Given the description of an element on the screen output the (x, y) to click on. 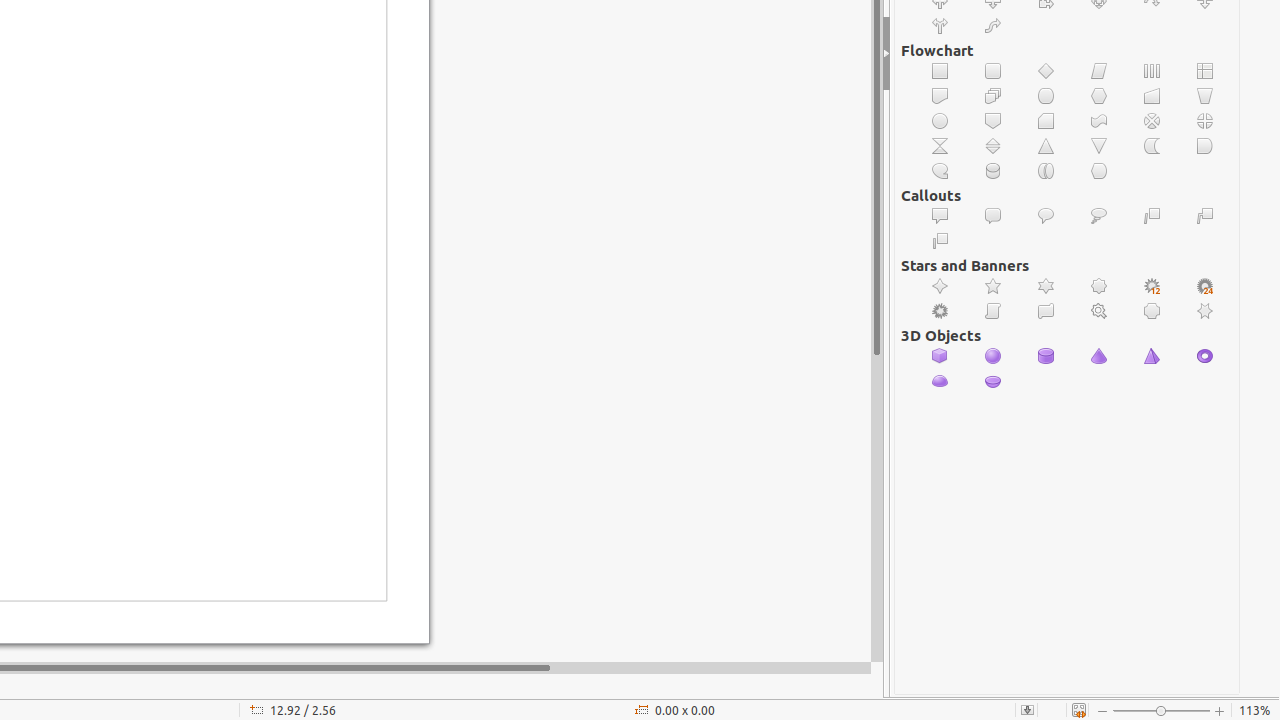
Flowchart: Sort Element type: list-item (993, 146)
Flowchart: Multidocument Element type: list-item (993, 96)
Flowchart: Data Element type: list-item (1099, 71)
Flowchart: Terminator Element type: list-item (1046, 96)
S-shaped Arrow Element type: list-item (993, 26)
